Given the description of an element on the screen output the (x, y) to click on. 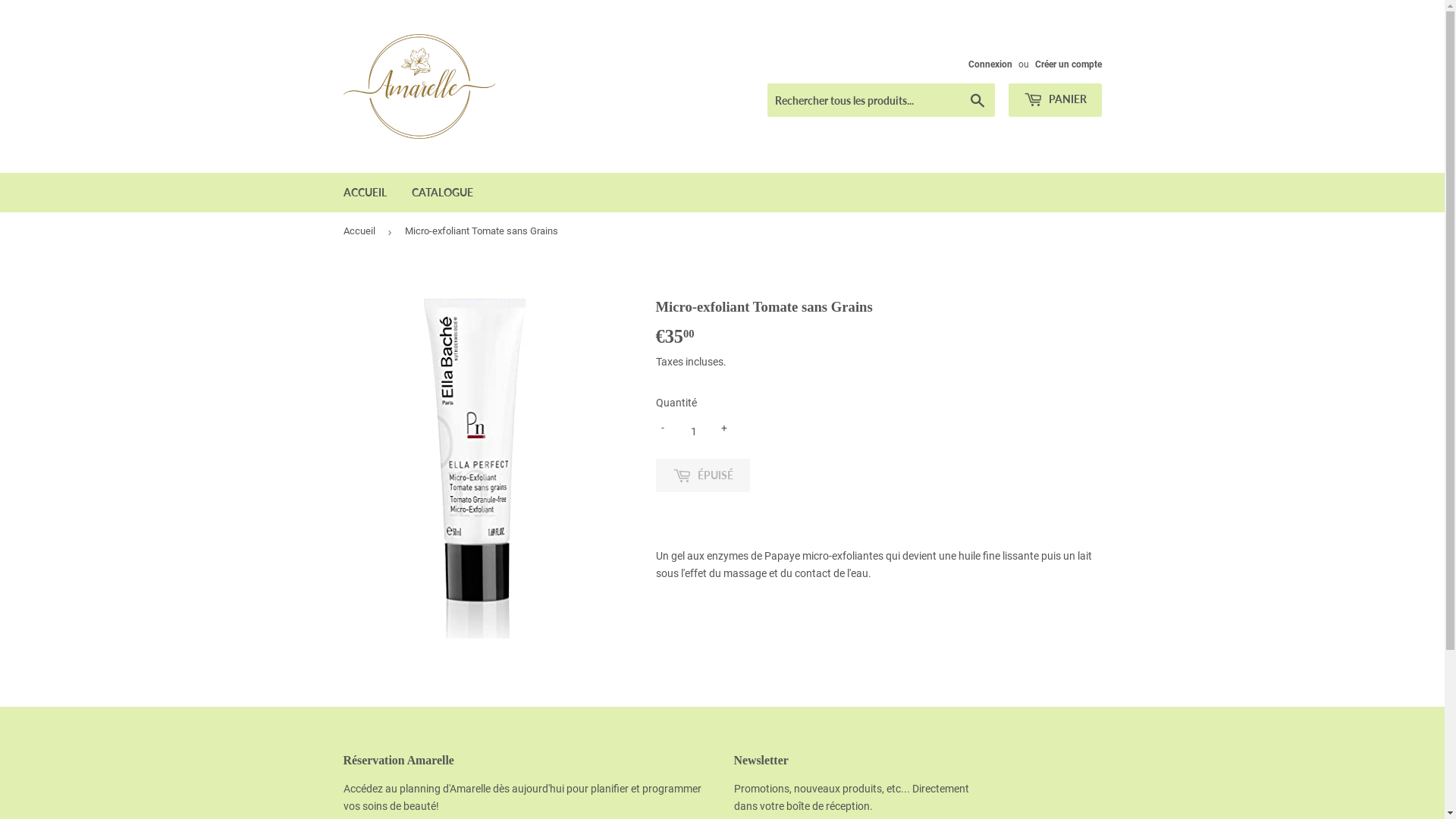
Connexion Element type: text (989, 64)
Chercher Element type: text (977, 100)
Accueil Element type: text (360, 231)
CATALOGUE Element type: text (442, 192)
ACCUEIL Element type: text (365, 192)
PANIER Element type: text (1054, 99)
